Given the description of an element on the screen output the (x, y) to click on. 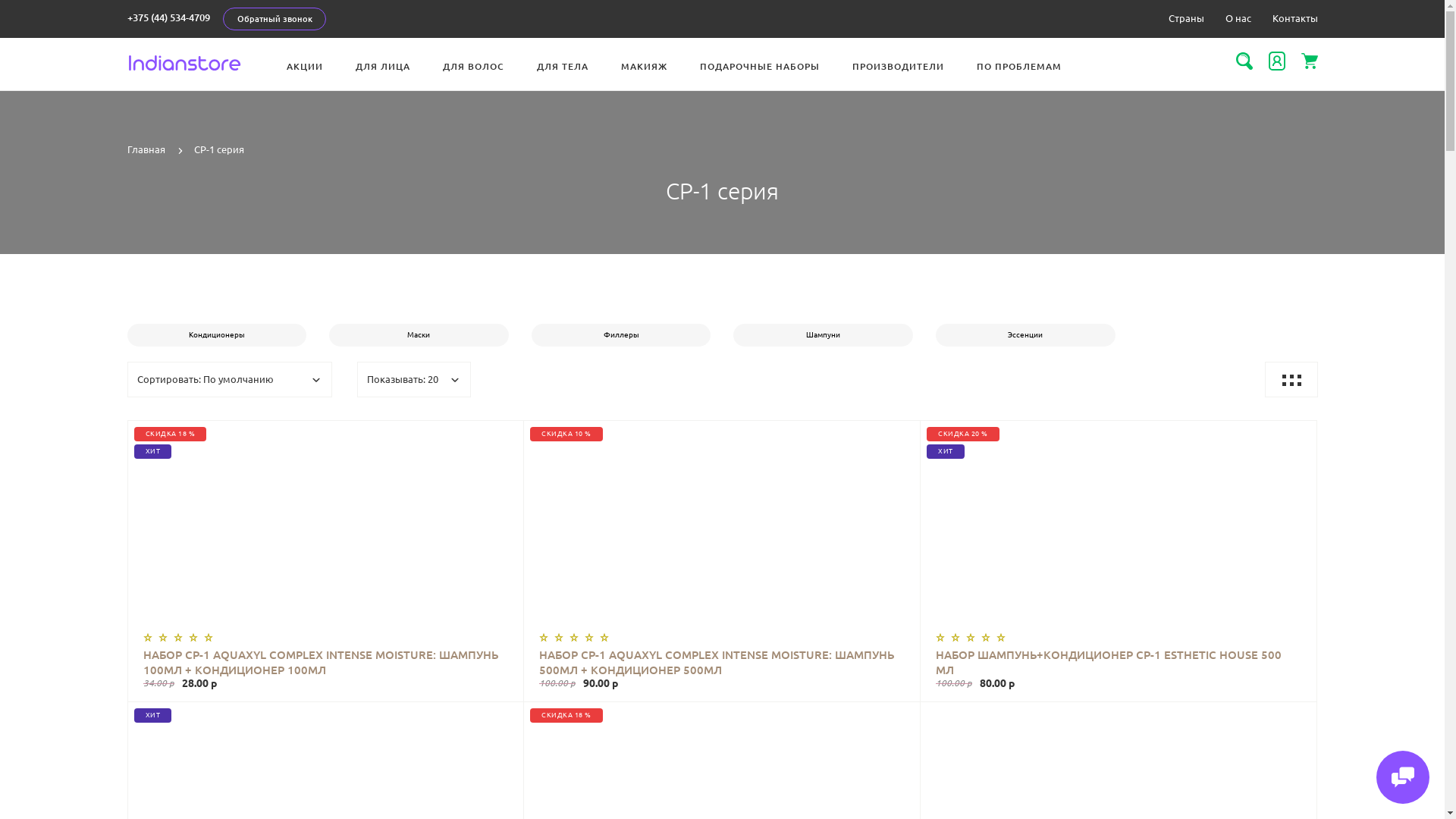
+375 (44) 534-4709 Element type: text (168, 17)
